Given the description of an element on the screen output the (x, y) to click on. 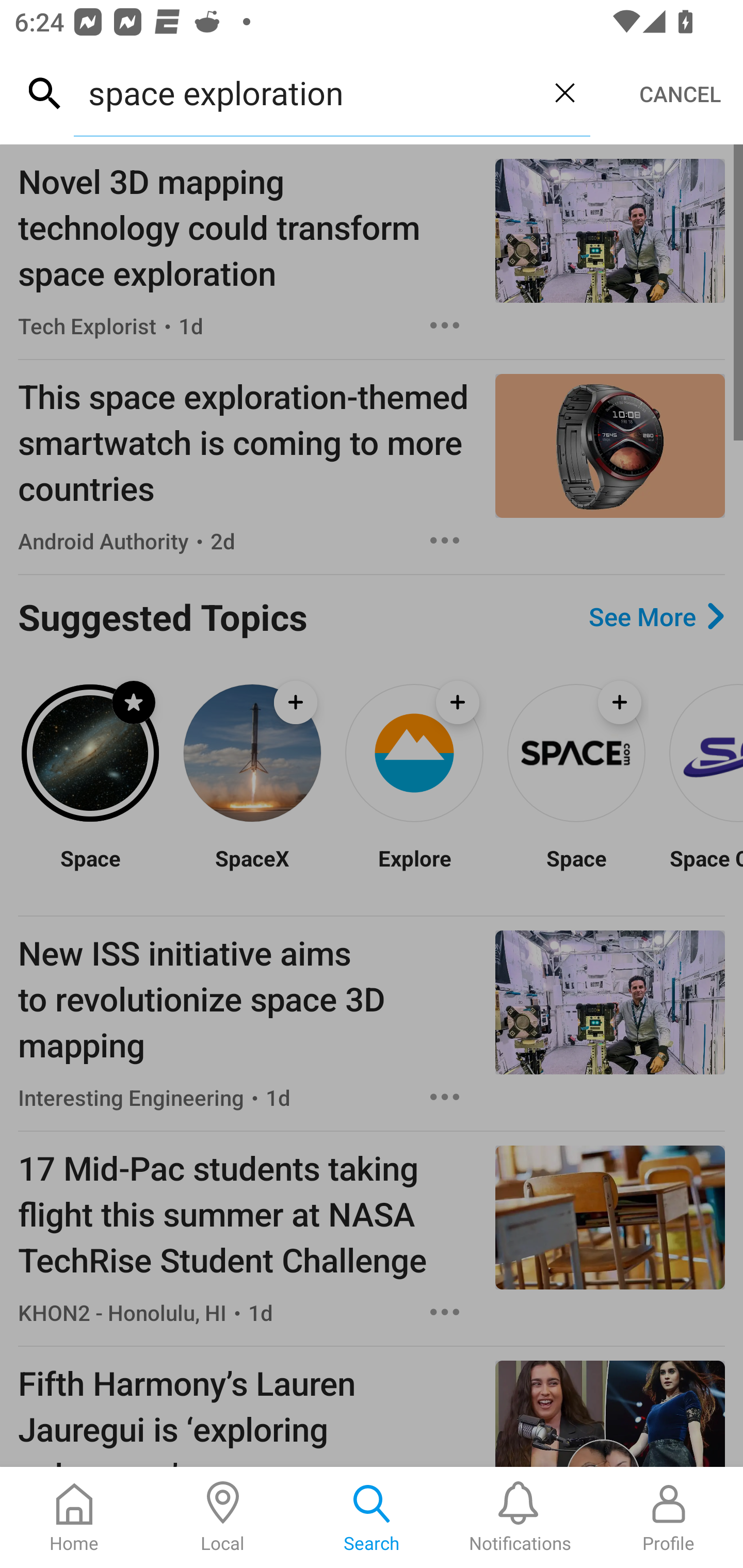
Clear query (564, 92)
CANCEL (680, 93)
space exploration (306, 92)
Options (444, 325)
Options (444, 540)
See More (656, 615)
Space (89, 870)
SpaceX (251, 870)
Explore (413, 870)
Space (575, 870)
Space Chatter (704, 870)
Options (444, 1096)
Options (444, 1312)
Home (74, 1517)
Local (222, 1517)
Notifications (519, 1517)
Profile (668, 1517)
